Given the description of an element on the screen output the (x, y) to click on. 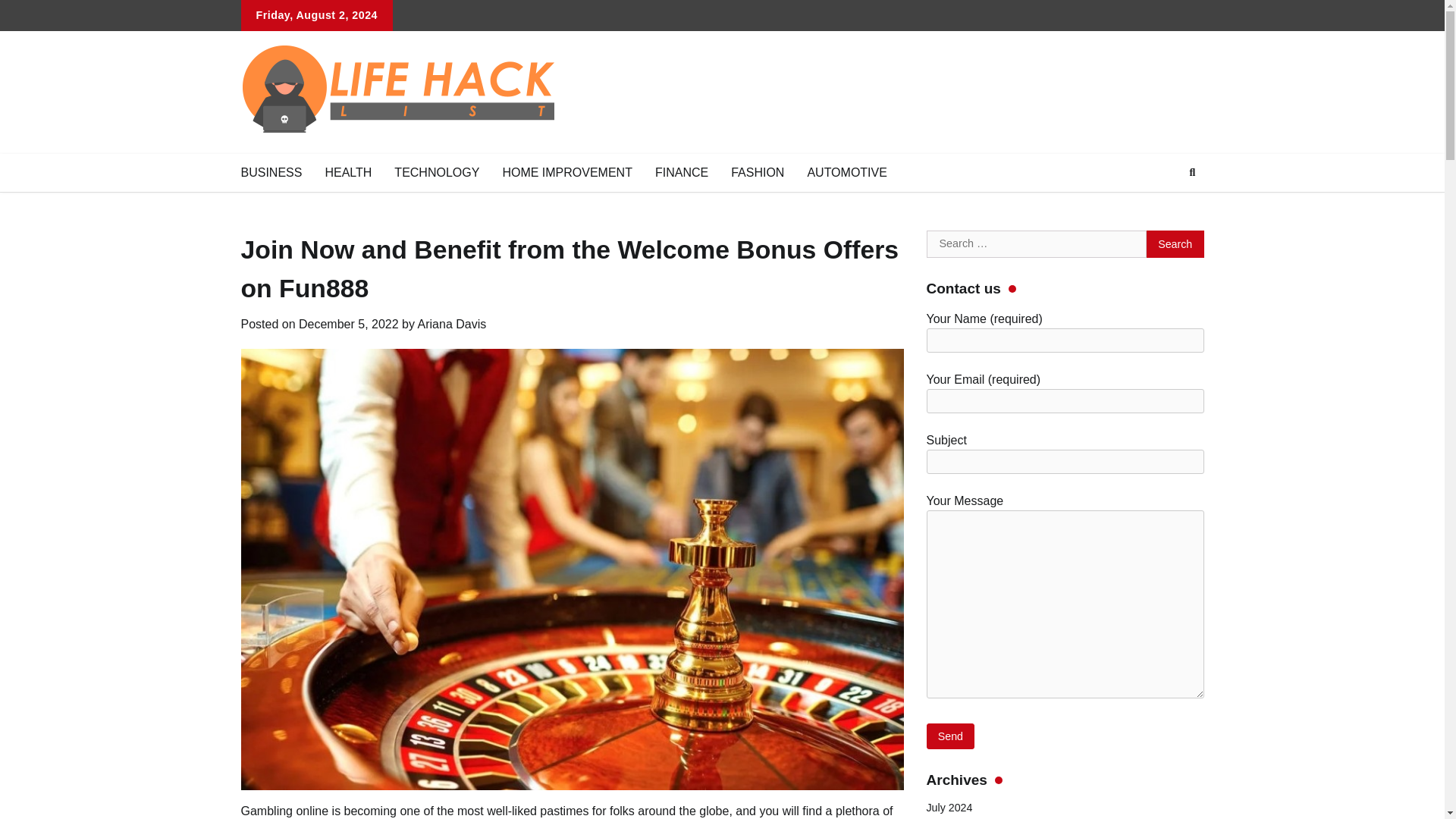
July 2024 (949, 807)
Search (1192, 172)
BUSINESS (270, 172)
Send (950, 735)
Send (950, 735)
December 5, 2022 (348, 323)
AUTOMOTIVE (846, 172)
Search (1175, 243)
HOME IMPROVEMENT (566, 172)
Search (1164, 207)
HEALTH (347, 172)
FASHION (756, 172)
Search (1175, 243)
FINANCE (681, 172)
Search (1175, 243)
